Given the description of an element on the screen output the (x, y) to click on. 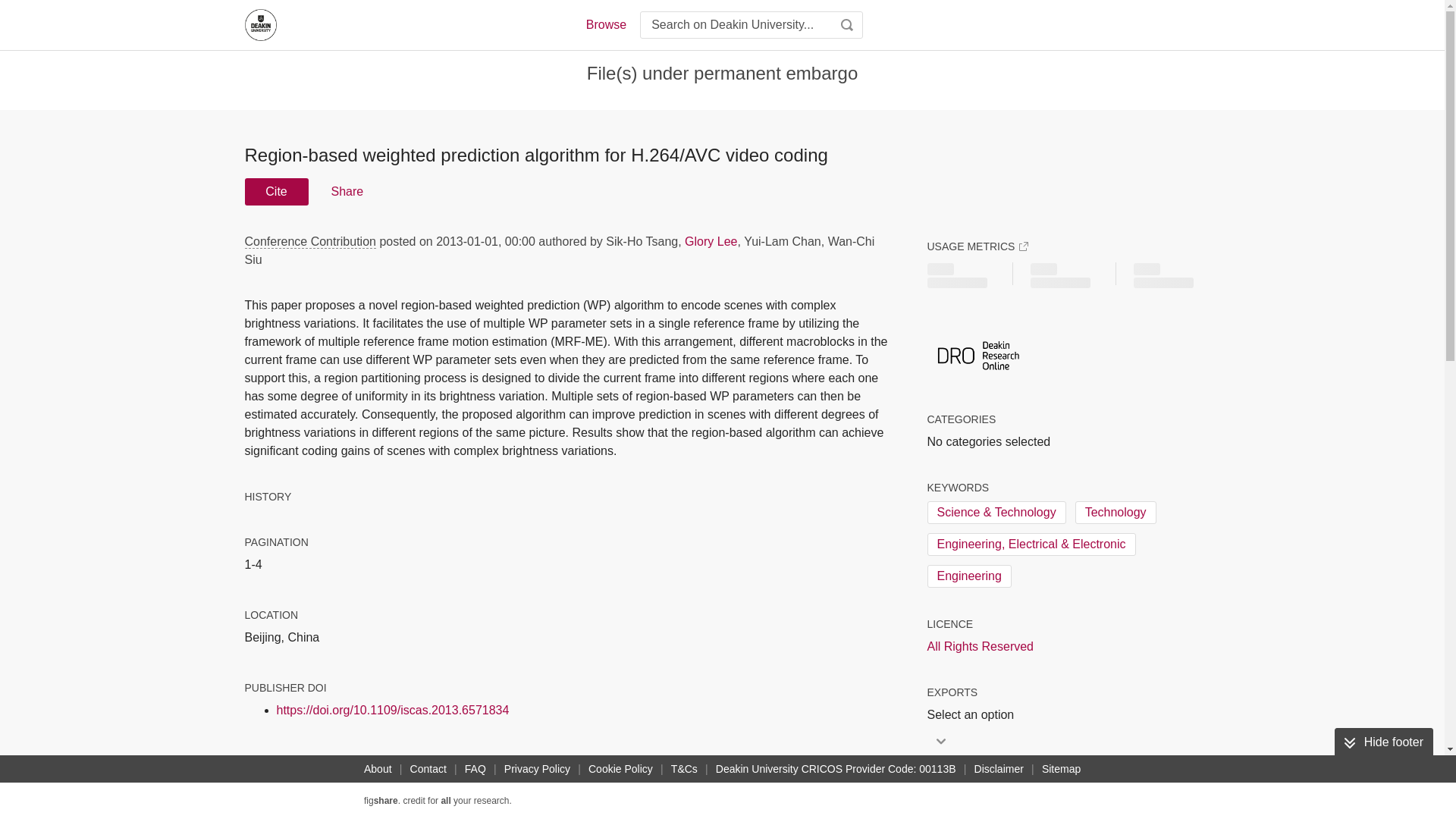
Contact (428, 769)
Privacy Policy (537, 769)
Sitemap (1060, 769)
About (377, 769)
USAGE METRICS (976, 246)
FAQ (475, 769)
Cite (275, 191)
Share (346, 191)
Hide footer (1383, 742)
Cookie Policy (620, 769)
Engineering (968, 576)
Select an option (974, 714)
Browse (605, 24)
Deakin University CRICOS Provider Code: 00113B (835, 769)
Technology (1115, 512)
